Given the description of an element on the screen output the (x, y) to click on. 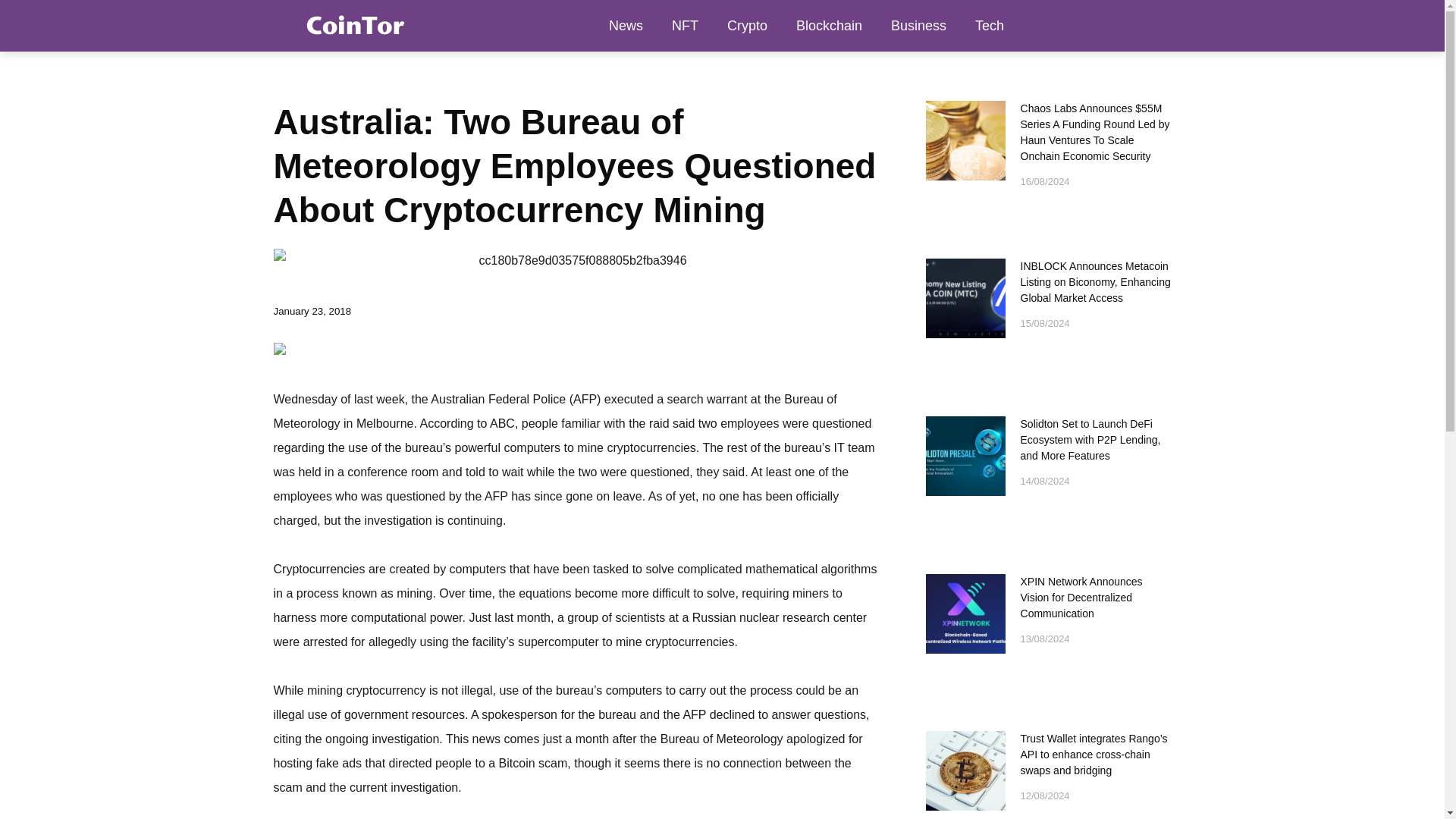
NFT (685, 25)
CoinTor (353, 25)
News (626, 25)
Tech (988, 25)
Crypto (747, 25)
Blockchain (828, 25)
Business (918, 25)
